Given the description of an element on the screen output the (x, y) to click on. 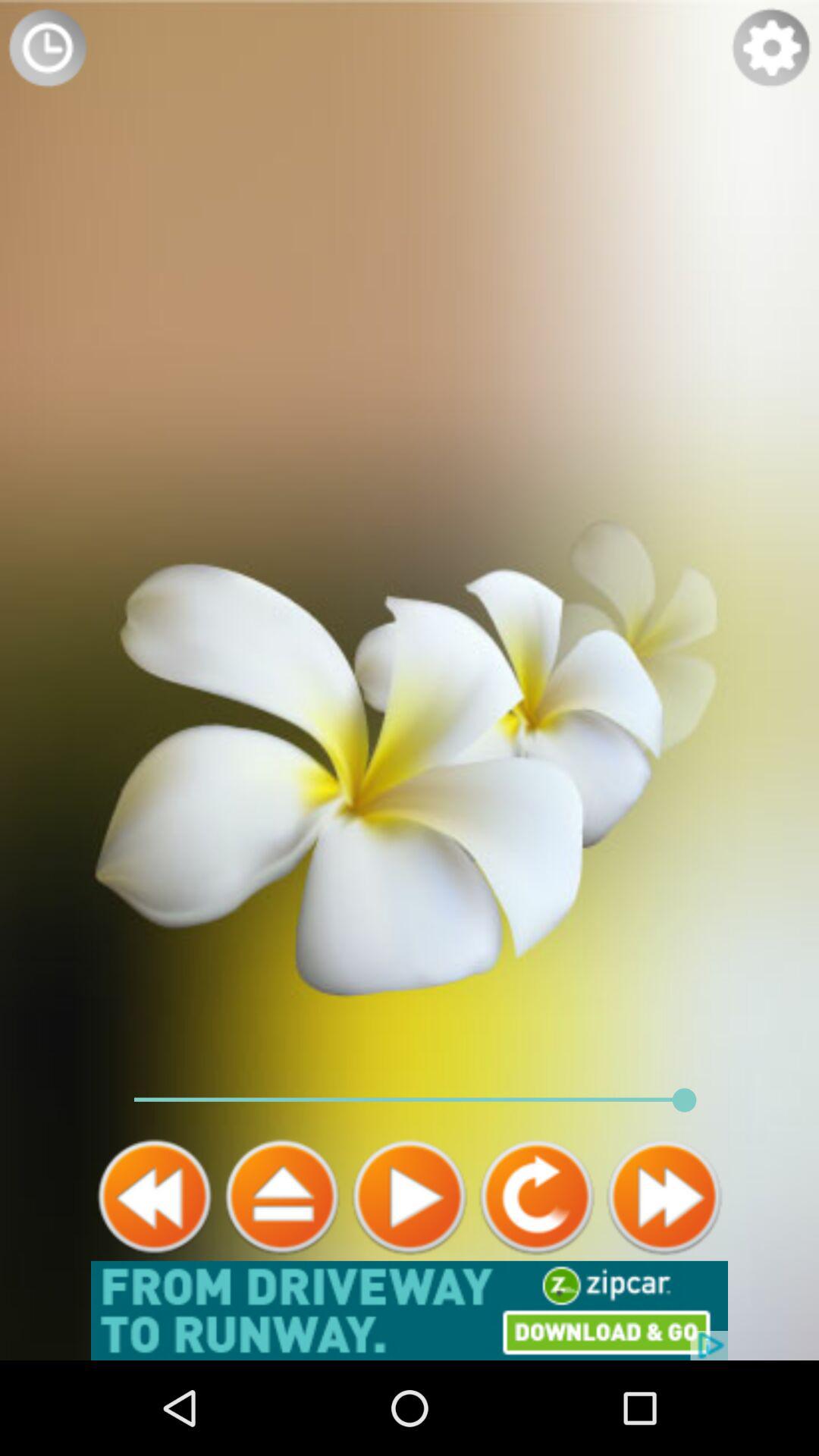
forward button (664, 1196)
